Given the description of an element on the screen output the (x, y) to click on. 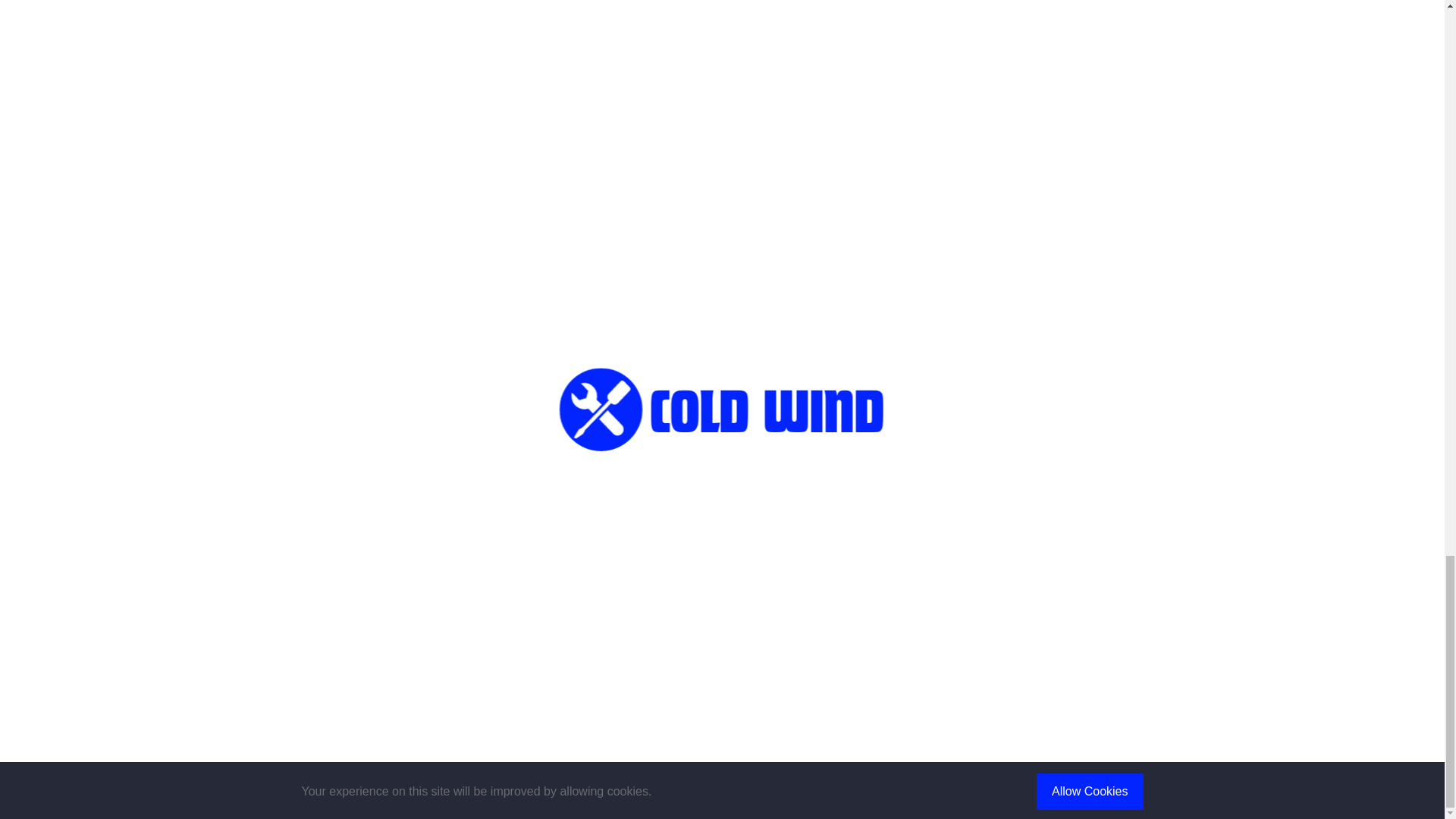
Services (756, 547)
Booking (755, 571)
Share (347, 272)
Tweet (452, 272)
 solutions. (449, 192)
Linkedin (558, 272)
SUBSCRIBE (1006, 639)
